Given the description of an element on the screen output the (x, y) to click on. 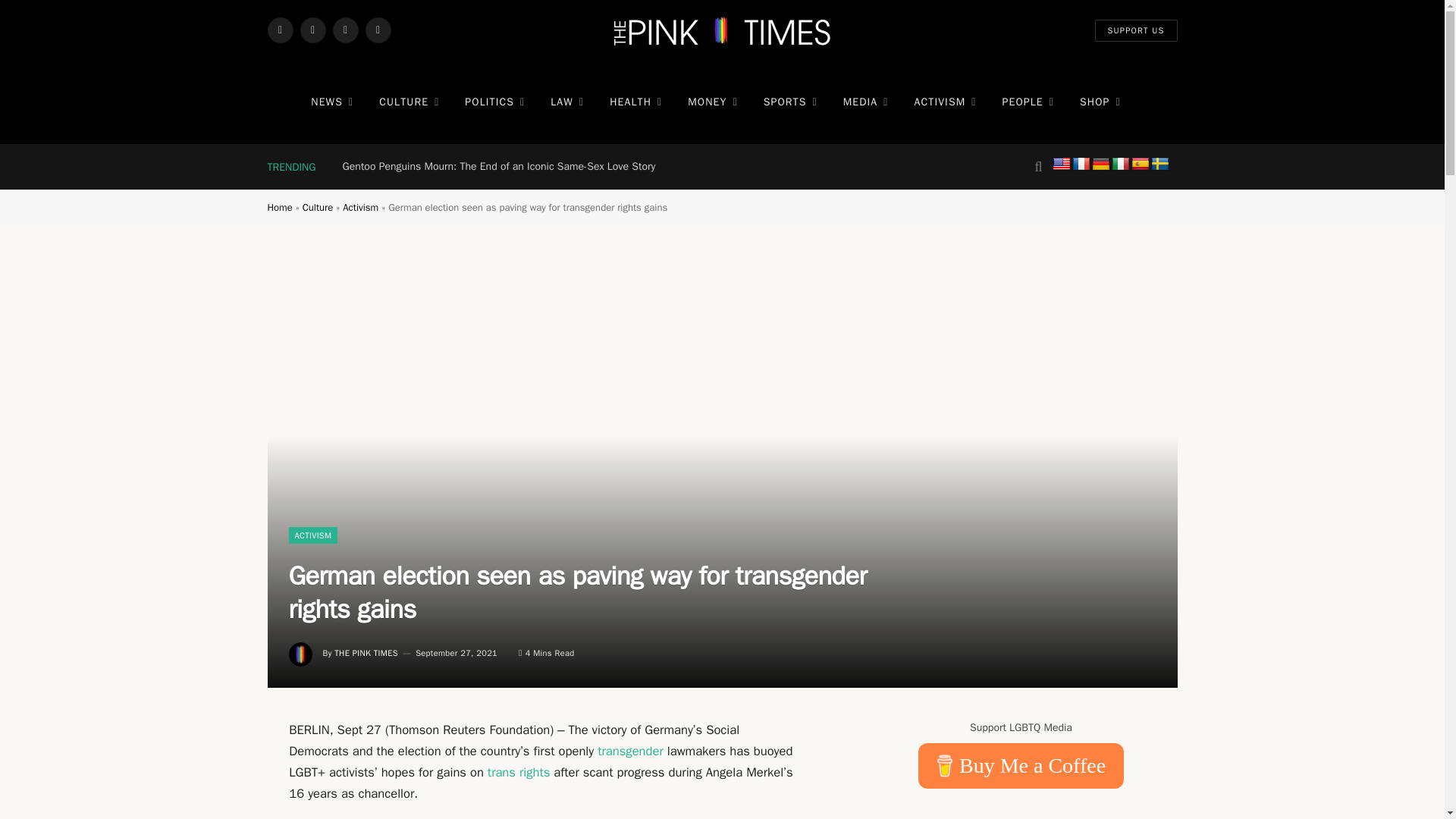
Facebook (279, 30)
The Pink Times (721, 30)
Instagram (344, 30)
SUPPORT US (1135, 30)
LinkedIn (378, 30)
